Given the description of an element on the screen output the (x, y) to click on. 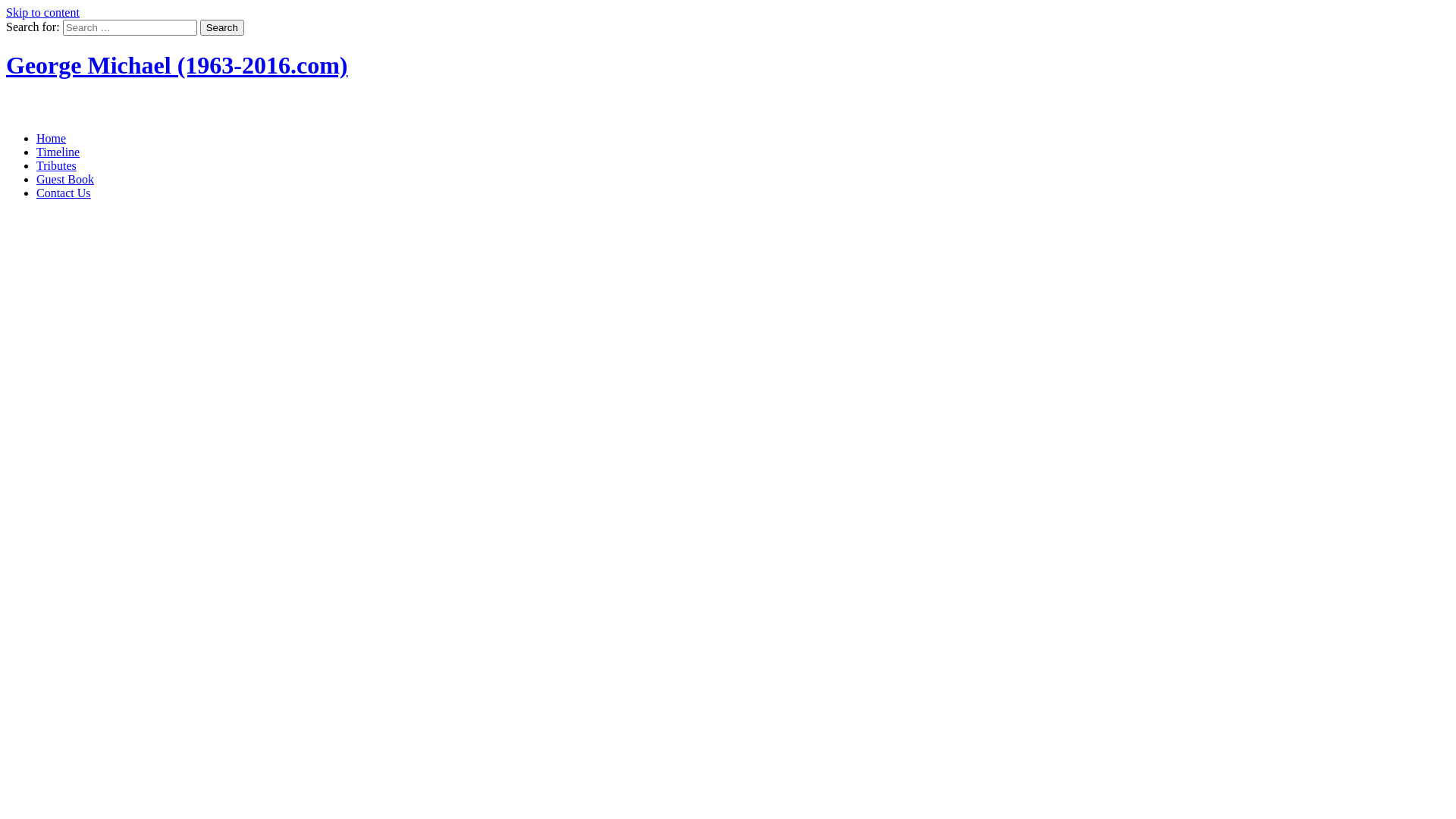
Search Element type: text (222, 27)
Contact Us Element type: text (63, 192)
George Michael (1963-2016.com) Element type: text (177, 64)
Skip to content Element type: text (42, 12)
Tributes Element type: text (56, 165)
Guest Book Element type: text (65, 178)
Timeline Element type: text (57, 151)
Home Element type: text (50, 137)
